Given the description of an element on the screen output the (x, y) to click on. 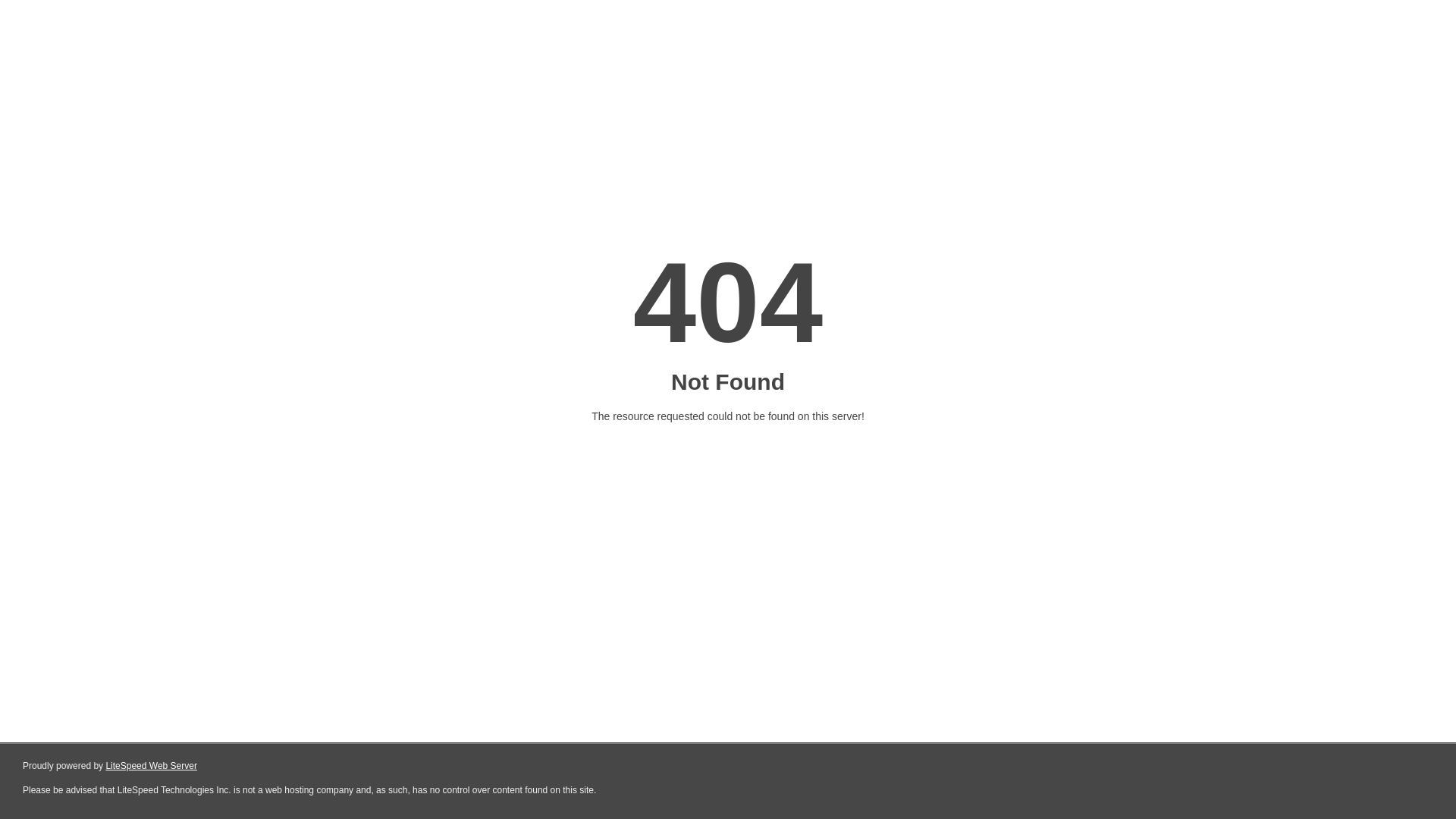
LiteSpeed Web Server Element type: text (151, 765)
